Given the description of an element on the screen output the (x, y) to click on. 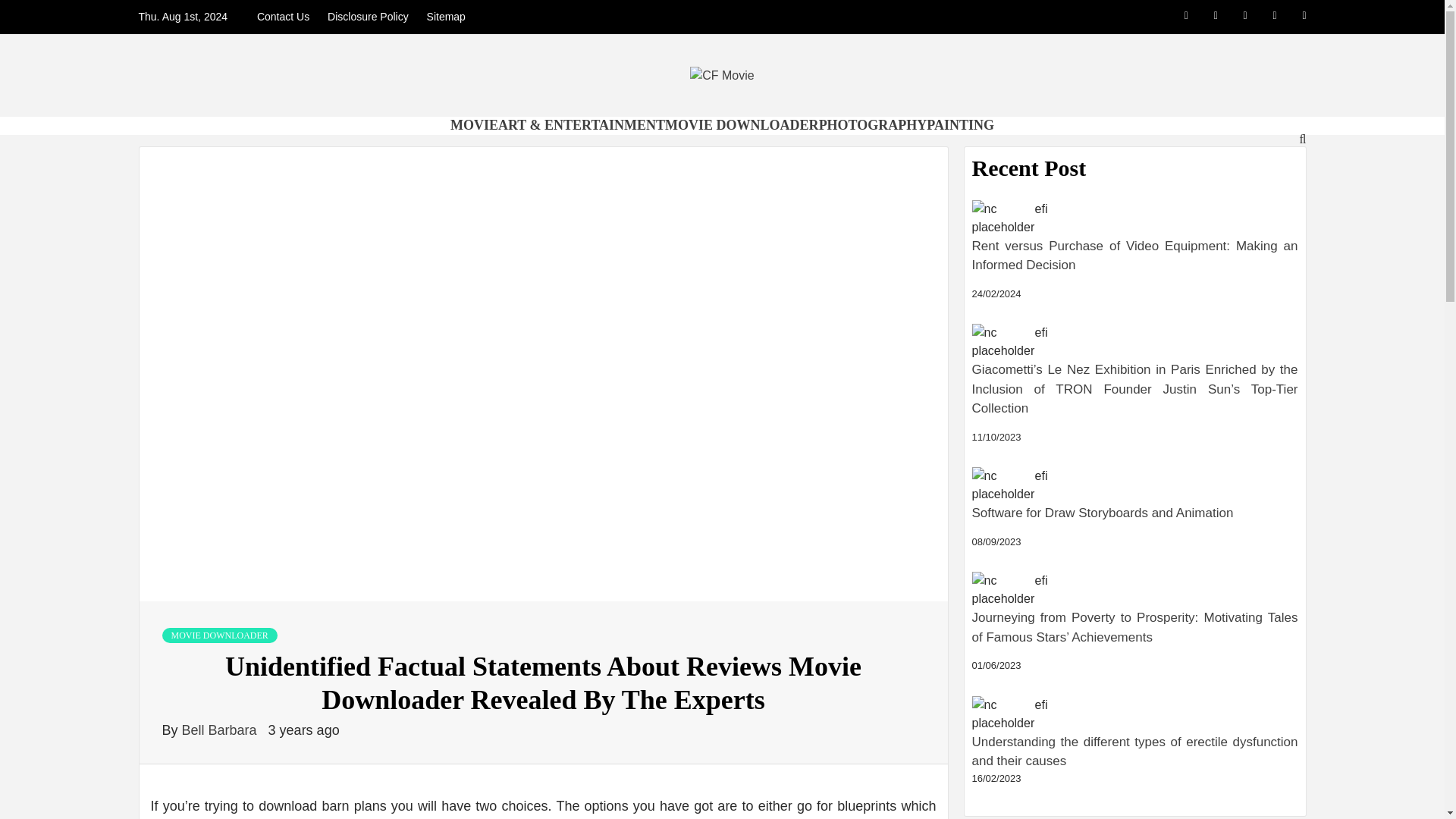
Disclosure Policy (368, 17)
MOVIE DOWNLOADER (741, 124)
Contact Us (287, 17)
PAINTING (960, 124)
CF MOVIE (333, 129)
Sitemap (446, 17)
MOVIE DOWNLOADER (219, 635)
PHOTOGRAPHY (872, 124)
